Given the description of an element on the screen output the (x, y) to click on. 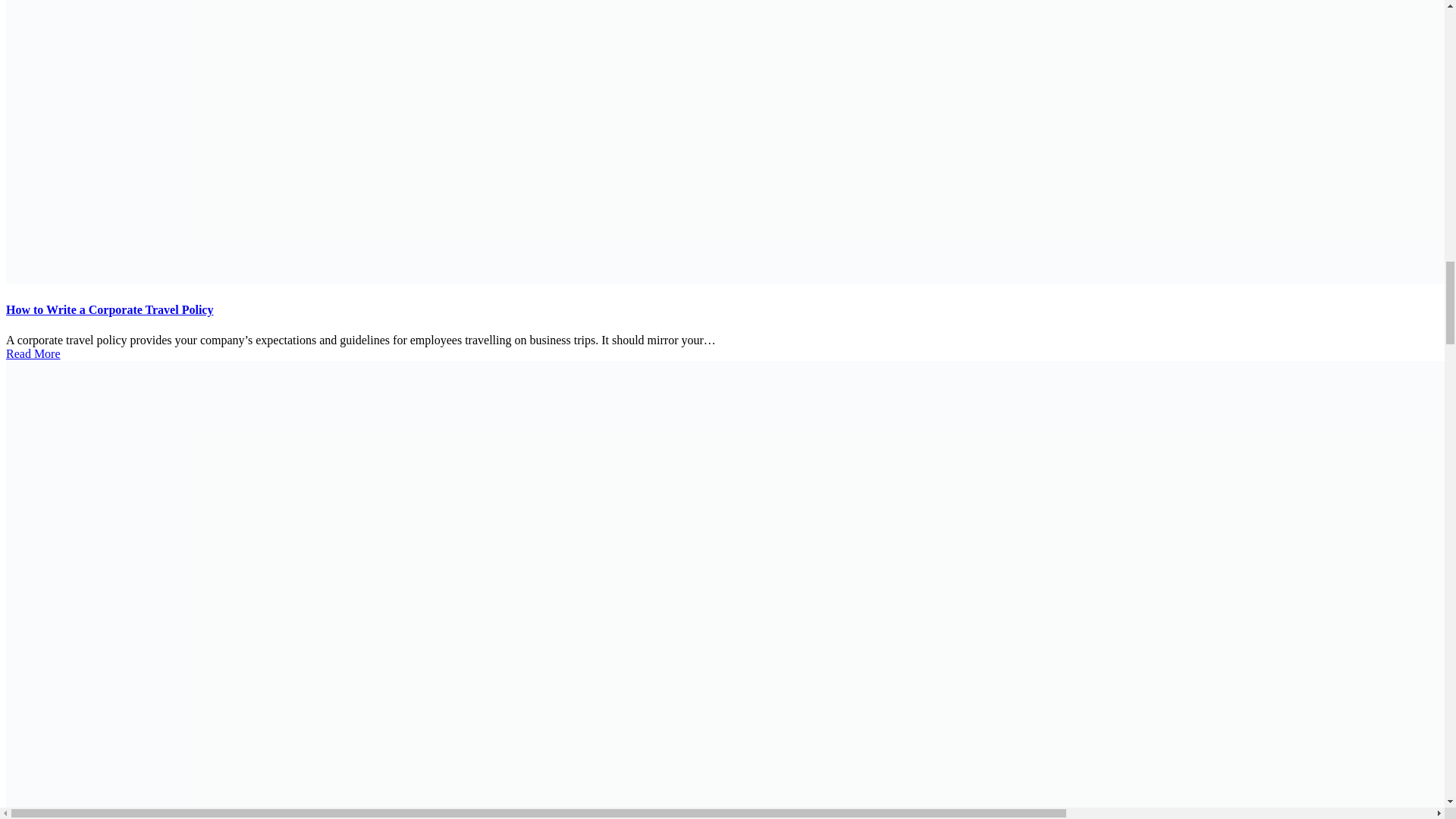
Read More (33, 353)
How to Write a Corporate Travel Policy (108, 309)
